Given the description of an element on the screen output the (x, y) to click on. 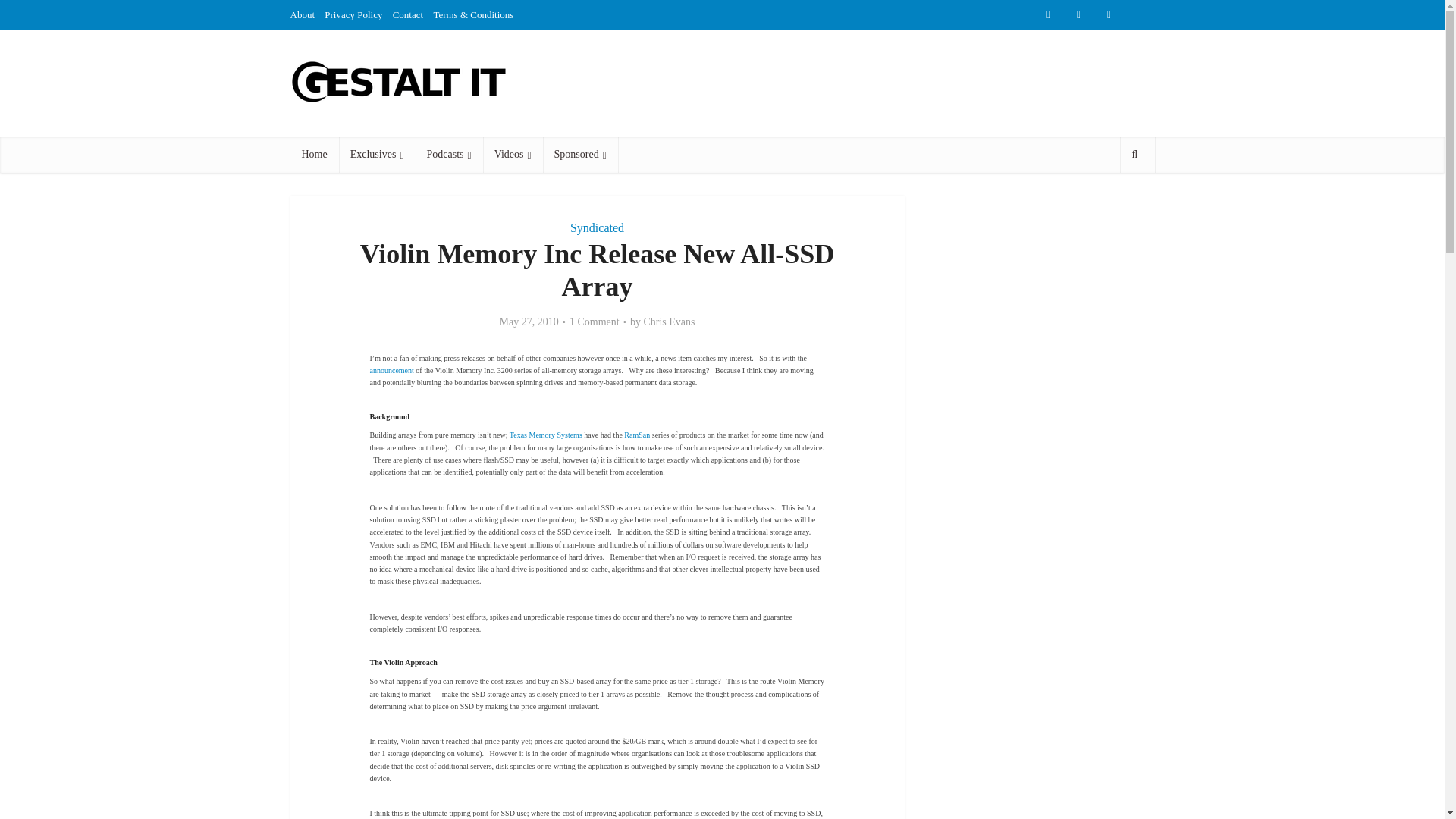
Podcasts (448, 154)
Privacy Policy (352, 14)
Sponsored (580, 154)
Videos (513, 154)
Contact (408, 14)
Exclusives (376, 154)
Home (313, 154)
About (301, 14)
